Given the description of an element on the screen output the (x, y) to click on. 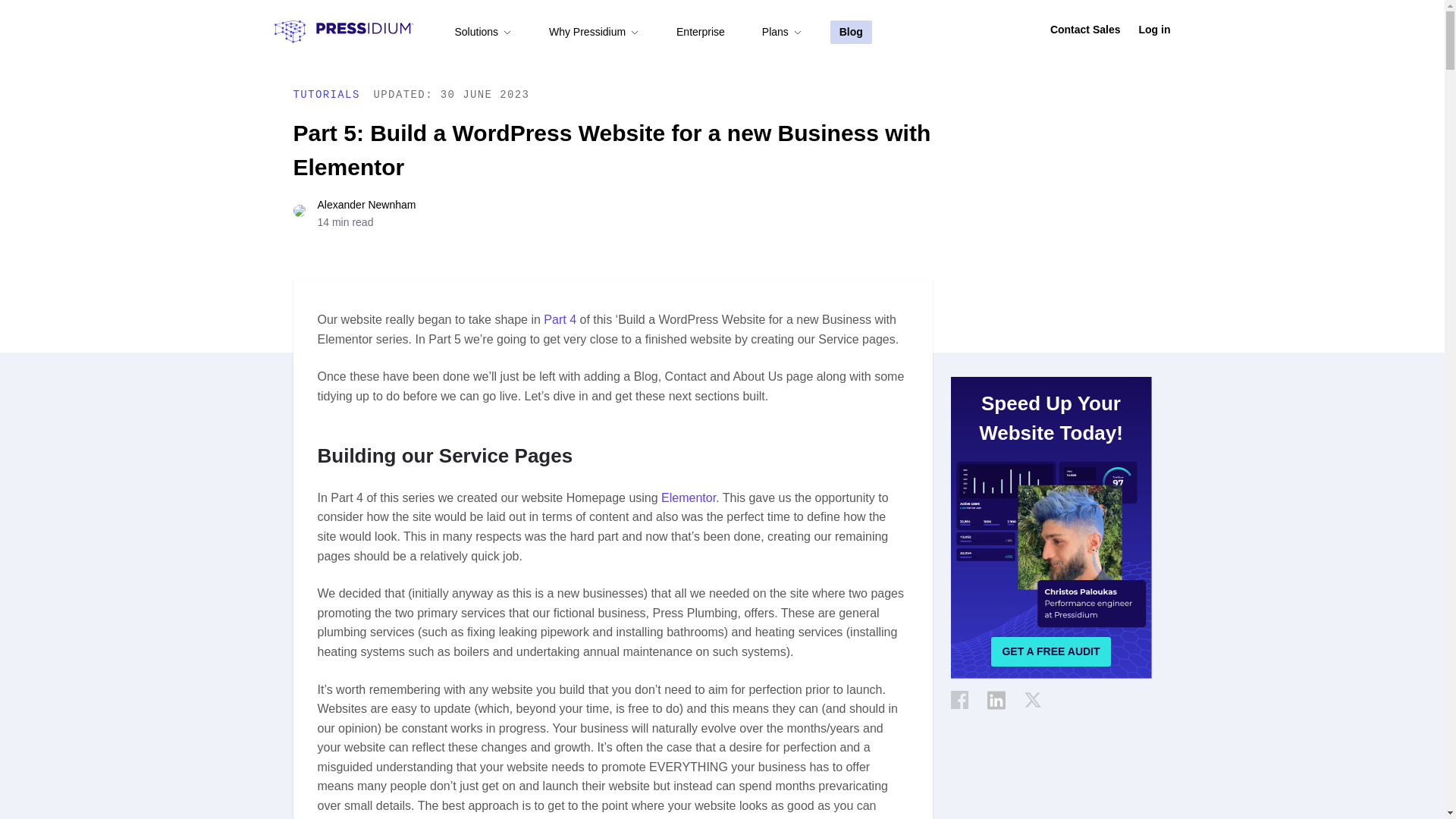
Solutions (483, 31)
Why Pressidium (593, 31)
Plans (781, 31)
Blog (851, 31)
Enterprise (701, 31)
